Given the description of an element on the screen output the (x, y) to click on. 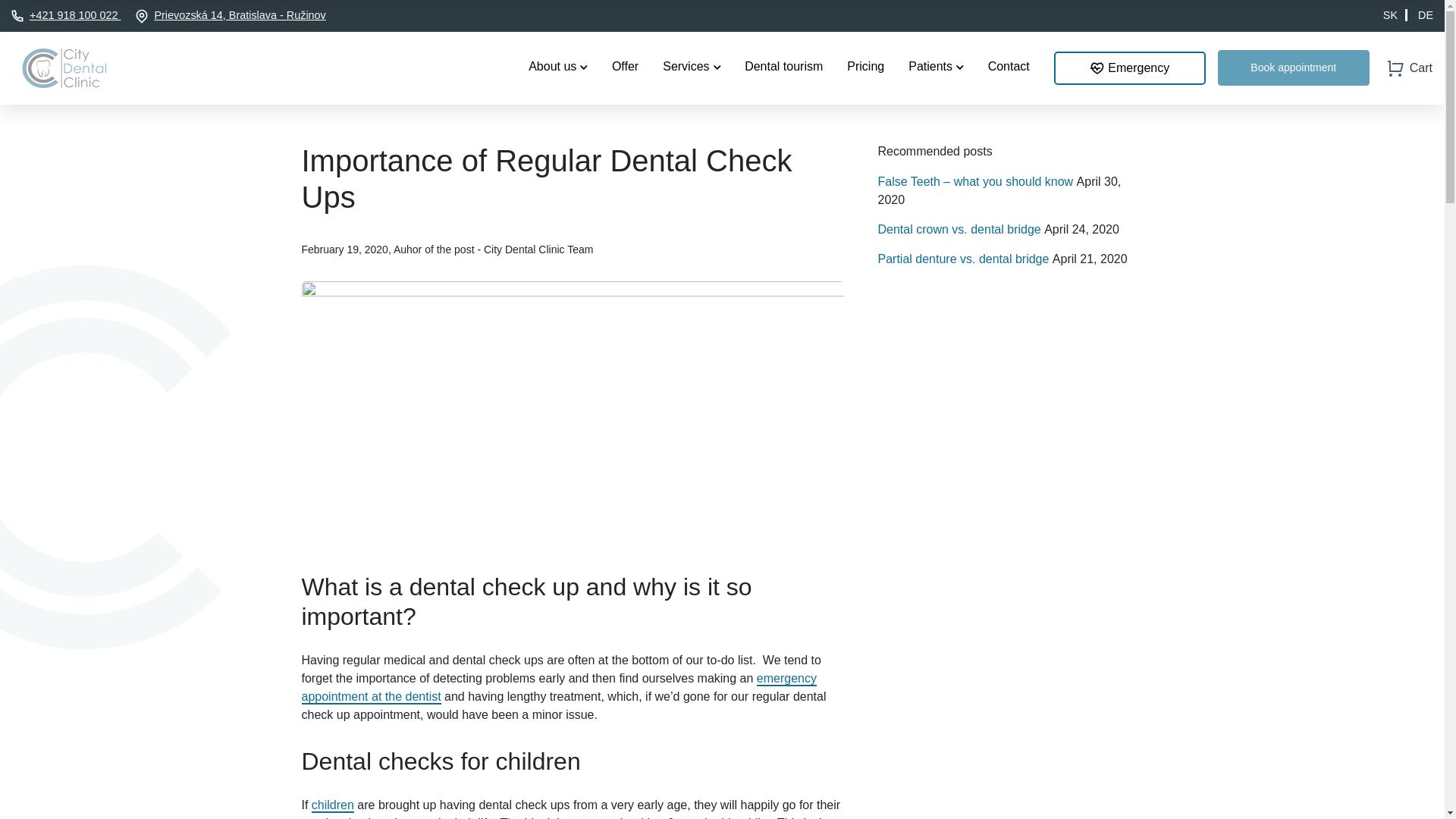
Offer (624, 66)
Services (691, 66)
SK (1395, 15)
DE (1425, 15)
About us (557, 66)
